Given the description of an element on the screen output the (x, y) to click on. 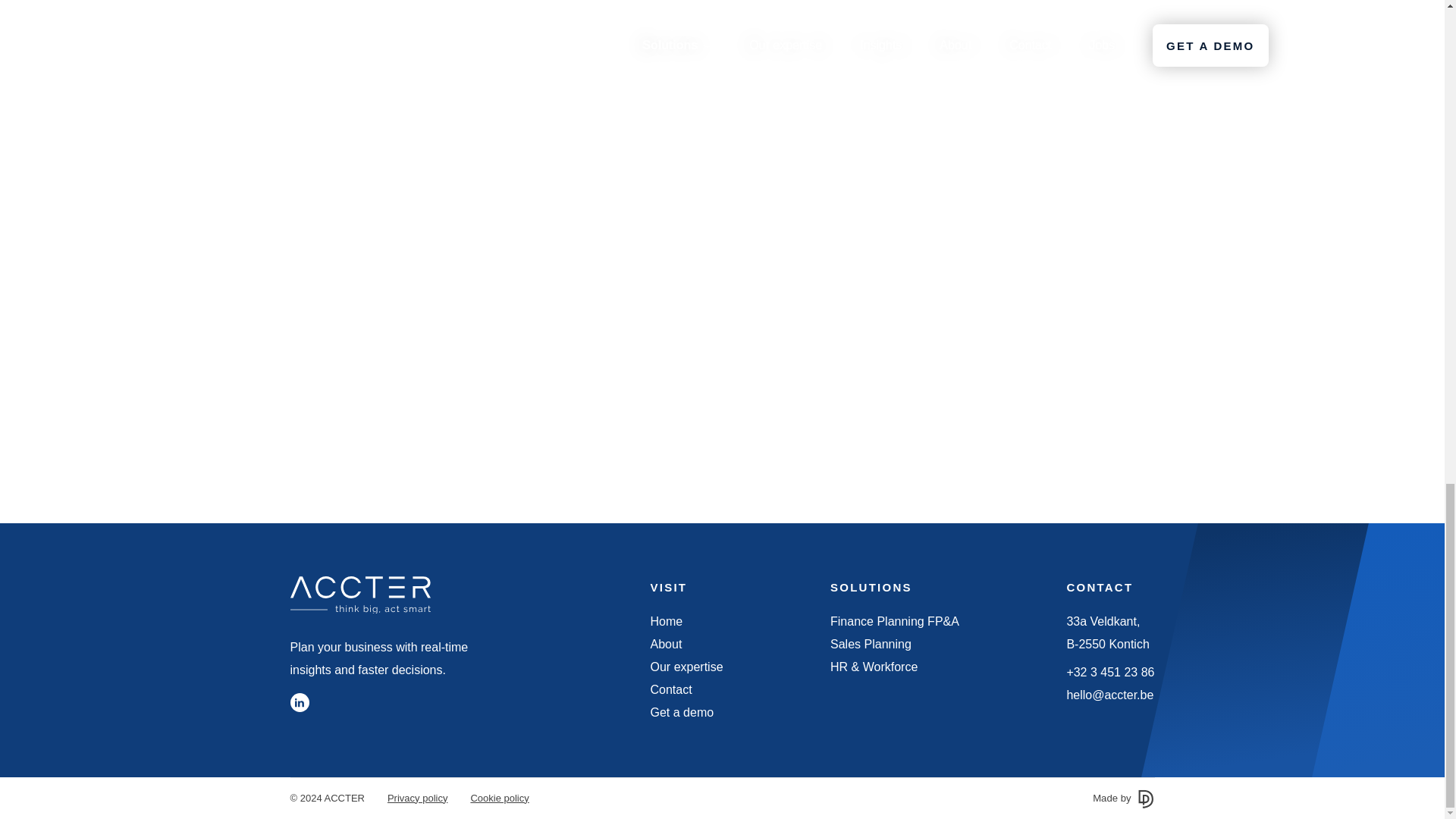
Home (666, 620)
Contact (671, 689)
Get a demo (682, 712)
Our expertise (686, 666)
About (666, 643)
Sales Planning (870, 643)
